Given the description of an element on the screen output the (x, y) to click on. 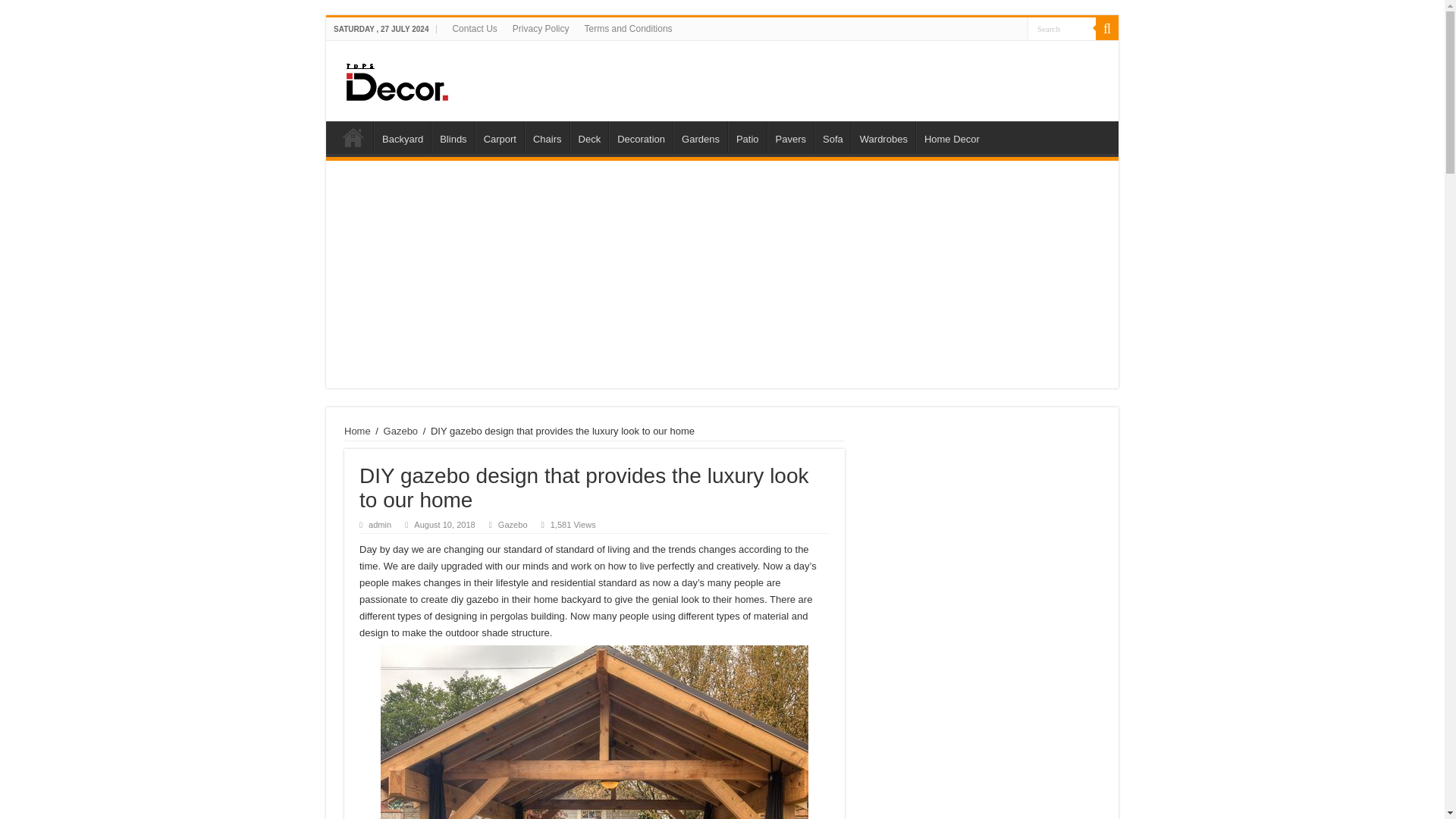
Gardens (699, 137)
Contact Us (473, 28)
Search (1061, 28)
Blinds (452, 137)
Search (1061, 28)
Search (1107, 28)
Patio (747, 137)
Gazebo (401, 430)
Search (1061, 28)
Gazebo (512, 524)
Home (357, 430)
Pavers (790, 137)
Decoration (640, 137)
Sofa (831, 137)
Chairs (546, 137)
